Given the description of an element on the screen output the (x, y) to click on. 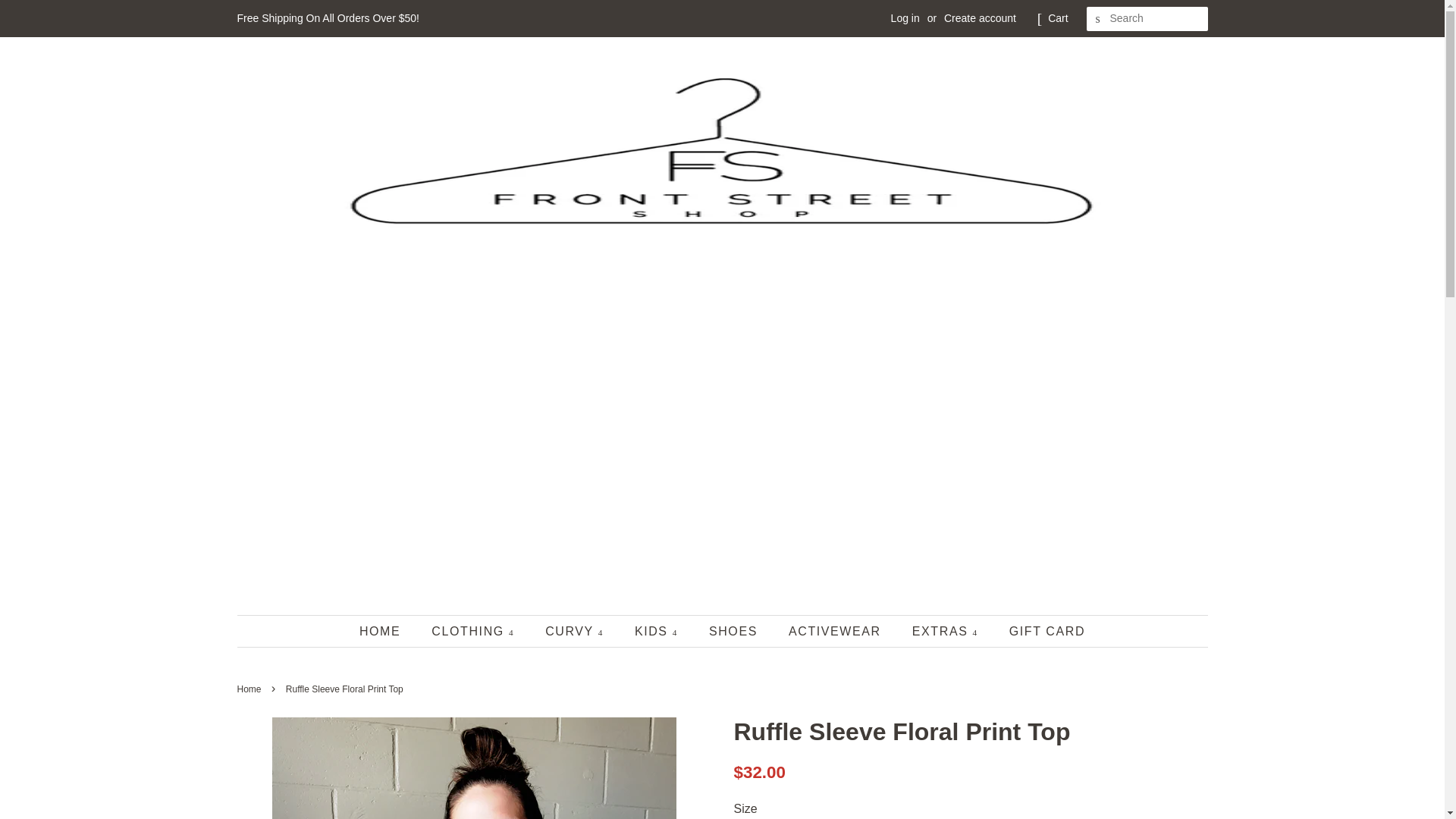
Cart (1057, 18)
SEARCH (1097, 18)
Back to the frontpage (249, 688)
Log in (905, 18)
Create account (979, 18)
